Given the description of an element on the screen output the (x, y) to click on. 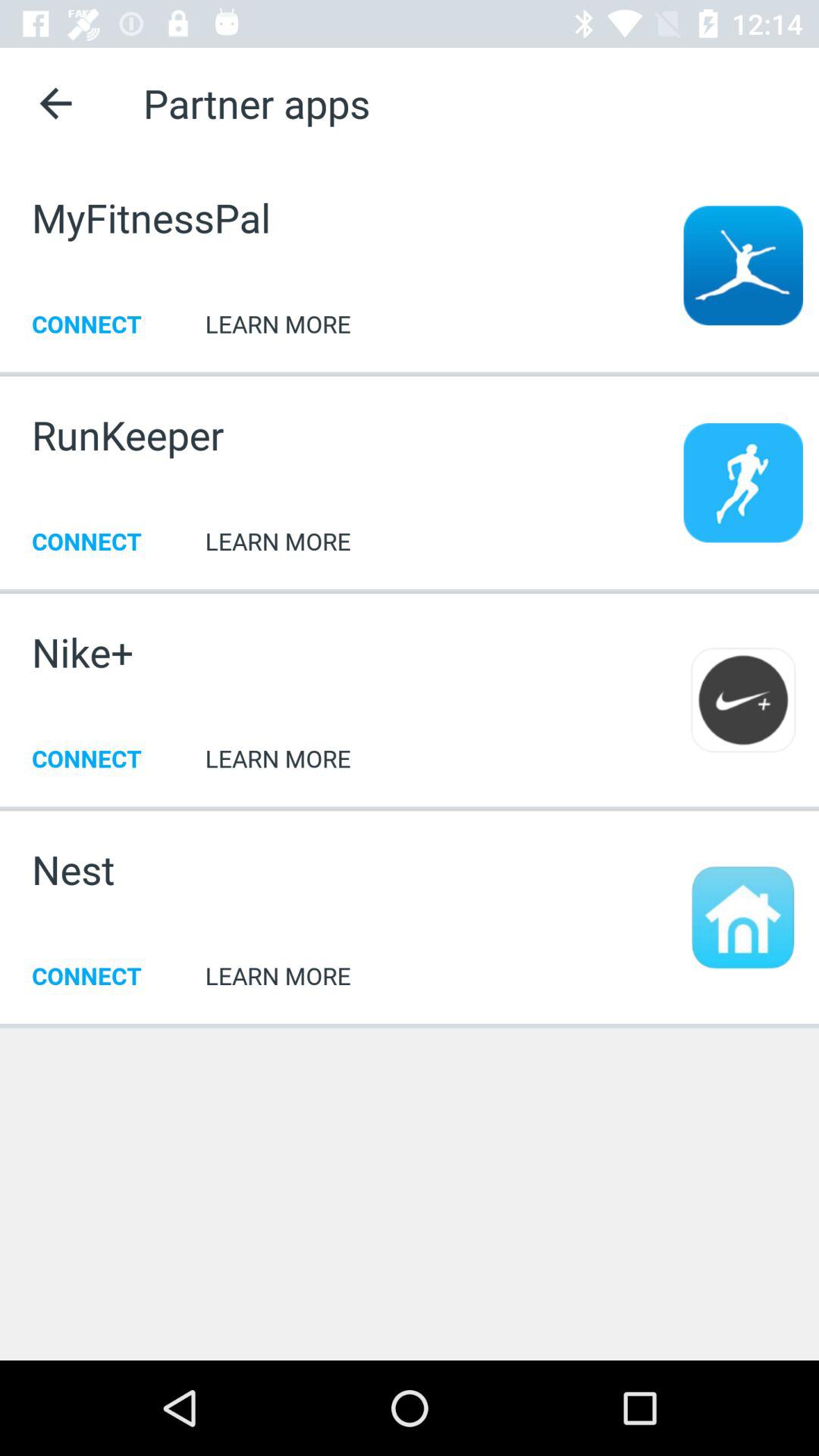
turn on item next to learn more (82, 651)
